Given the description of an element on the screen output the (x, y) to click on. 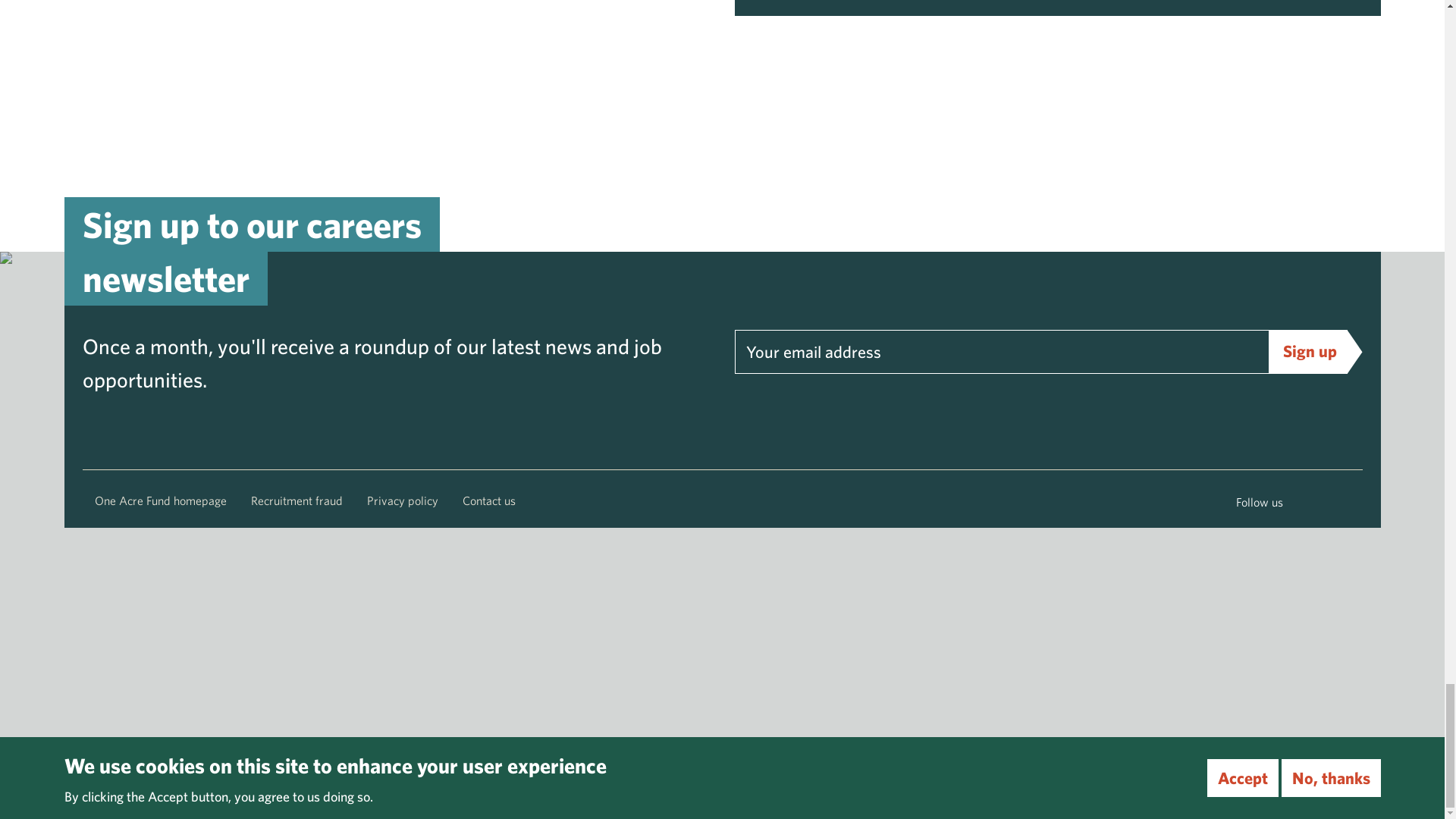
Linkedin (1354, 501)
Facebook (1301, 501)
Twitter (1328, 501)
